Given the description of an element on the screen output the (x, y) to click on. 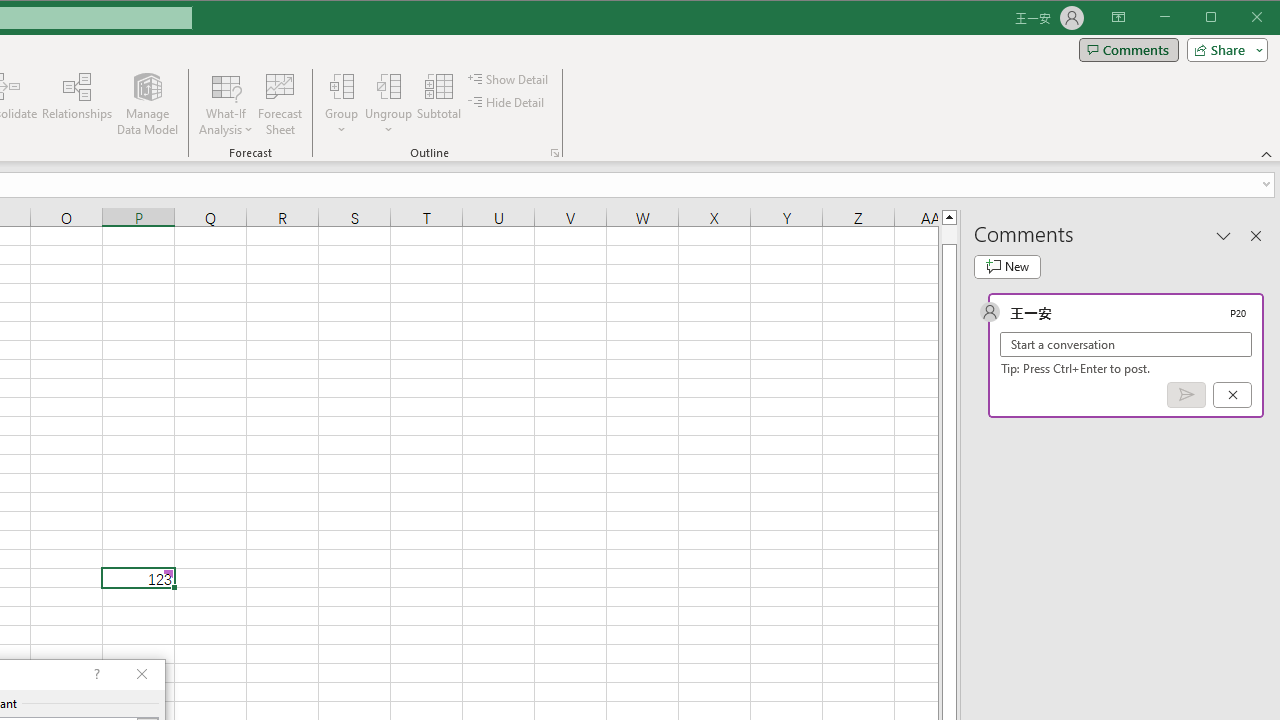
Start a conversation (1126, 344)
Show Detail (509, 78)
New comment (1007, 266)
Post comment (Ctrl + Enter) (1186, 395)
Group and Outline Settings (554, 152)
Cancel (1232, 395)
Page up (948, 234)
